Given the description of an element on the screen output the (x, y) to click on. 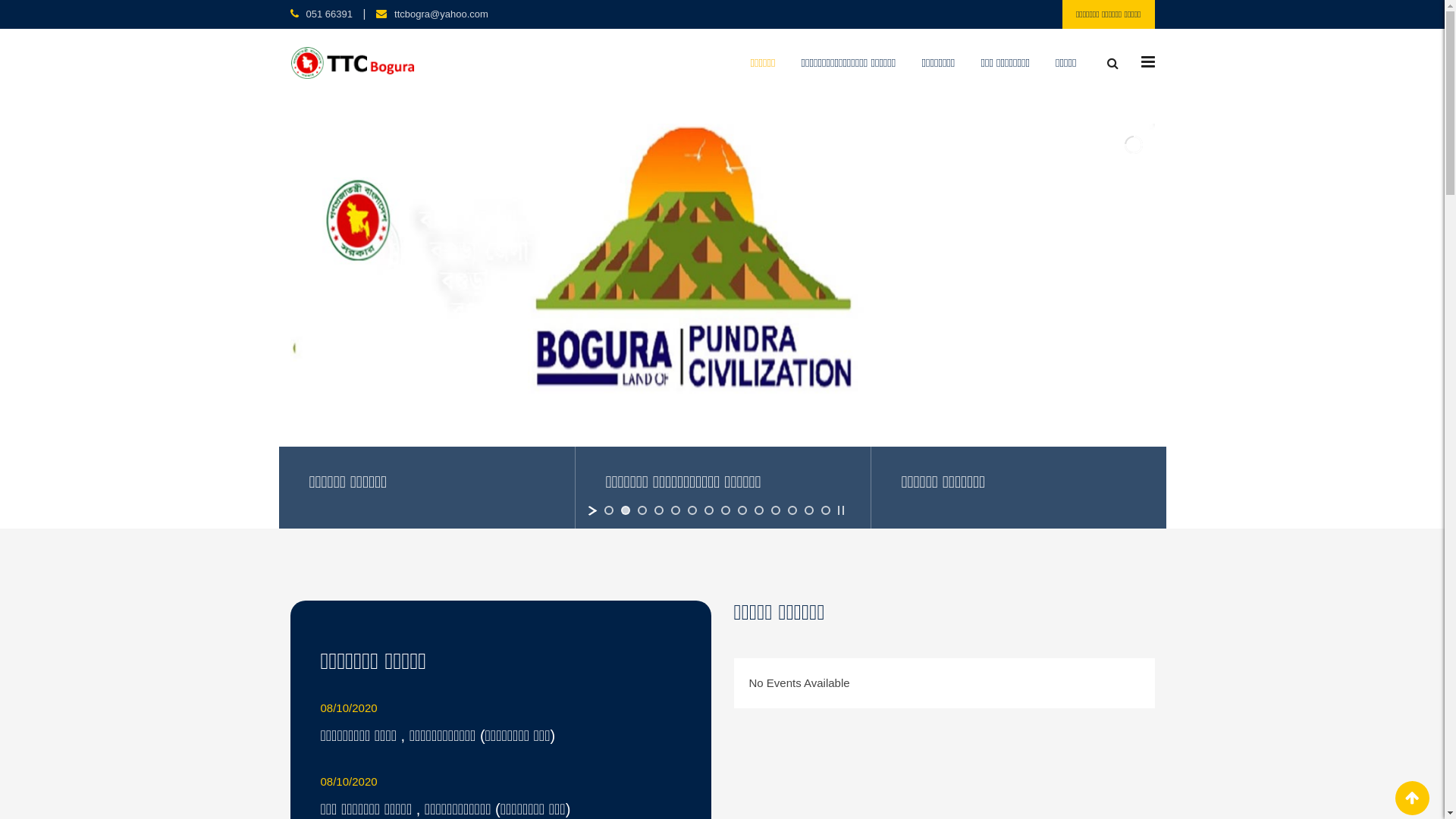
ttcbogra@yahoo.com Element type: text (441, 13)
Skip to content Element type: text (0, 0)
051 66391 Element type: text (329, 13)
